Given the description of an element on the screen output the (x, y) to click on. 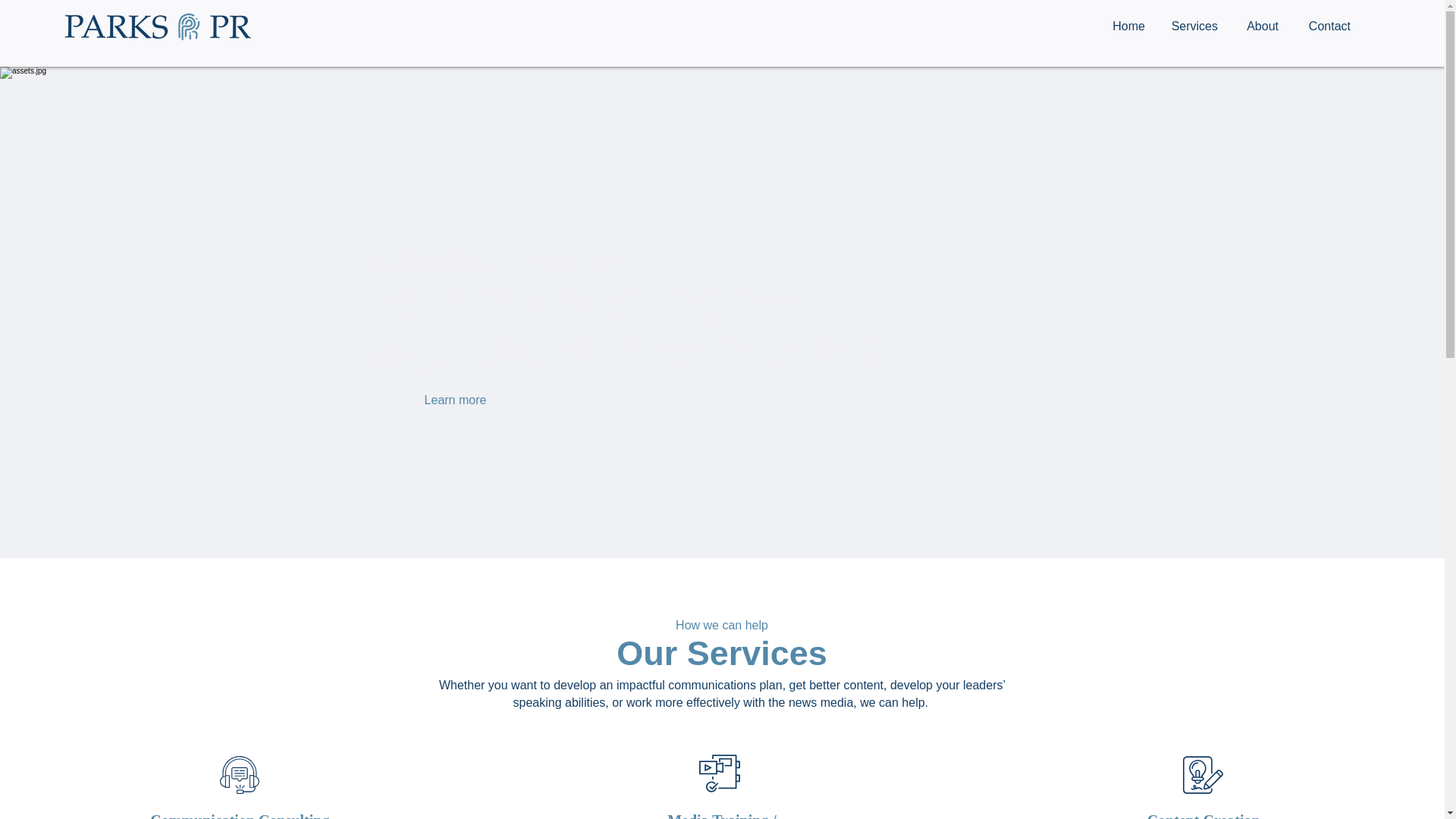
Home (1126, 26)
Learn more (455, 400)
Services (1192, 26)
About (1259, 26)
Contact (1325, 26)
